Given the description of an element on the screen output the (x, y) to click on. 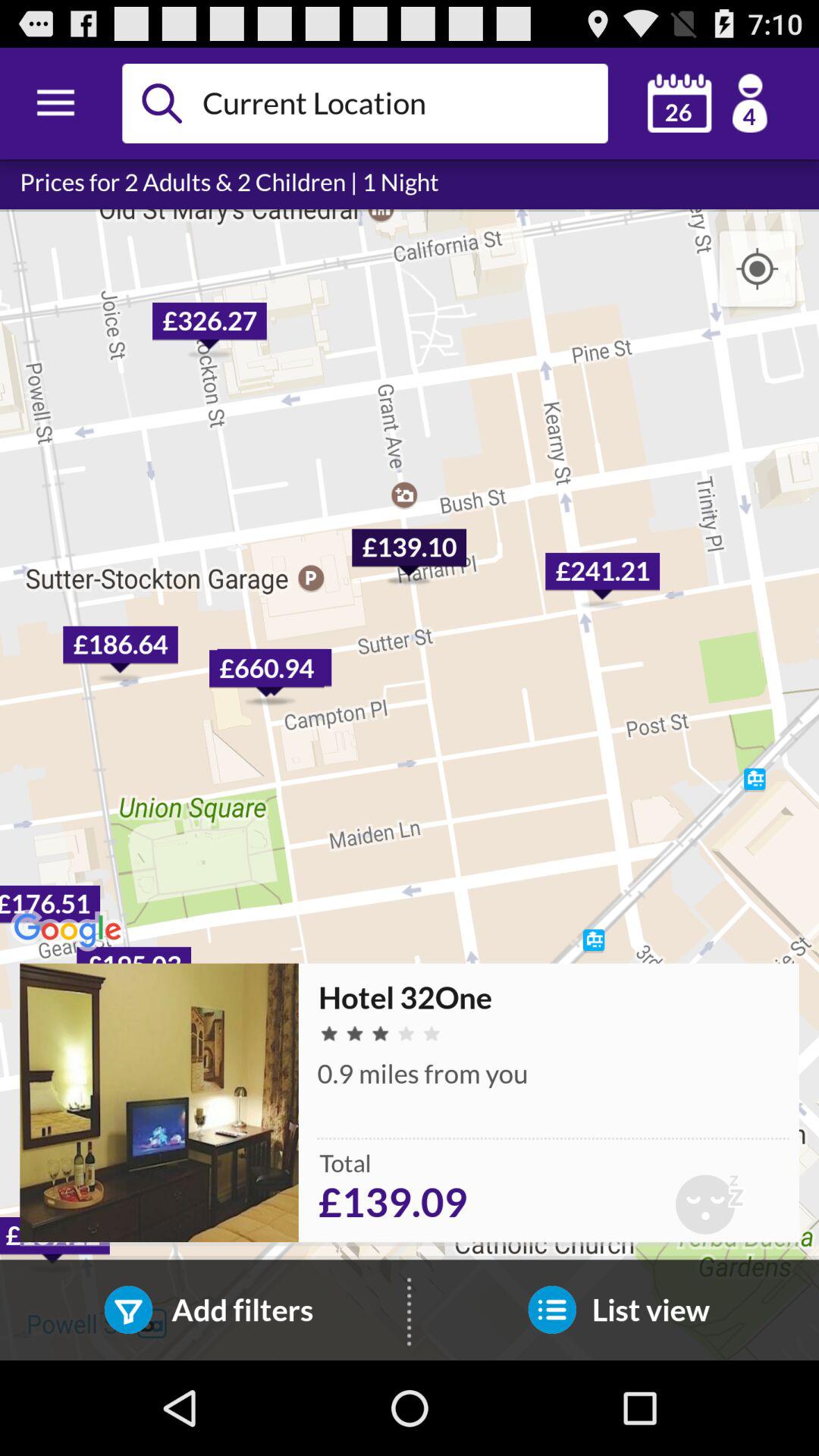
enter current location (399, 103)
